Given the description of an element on the screen output the (x, y) to click on. 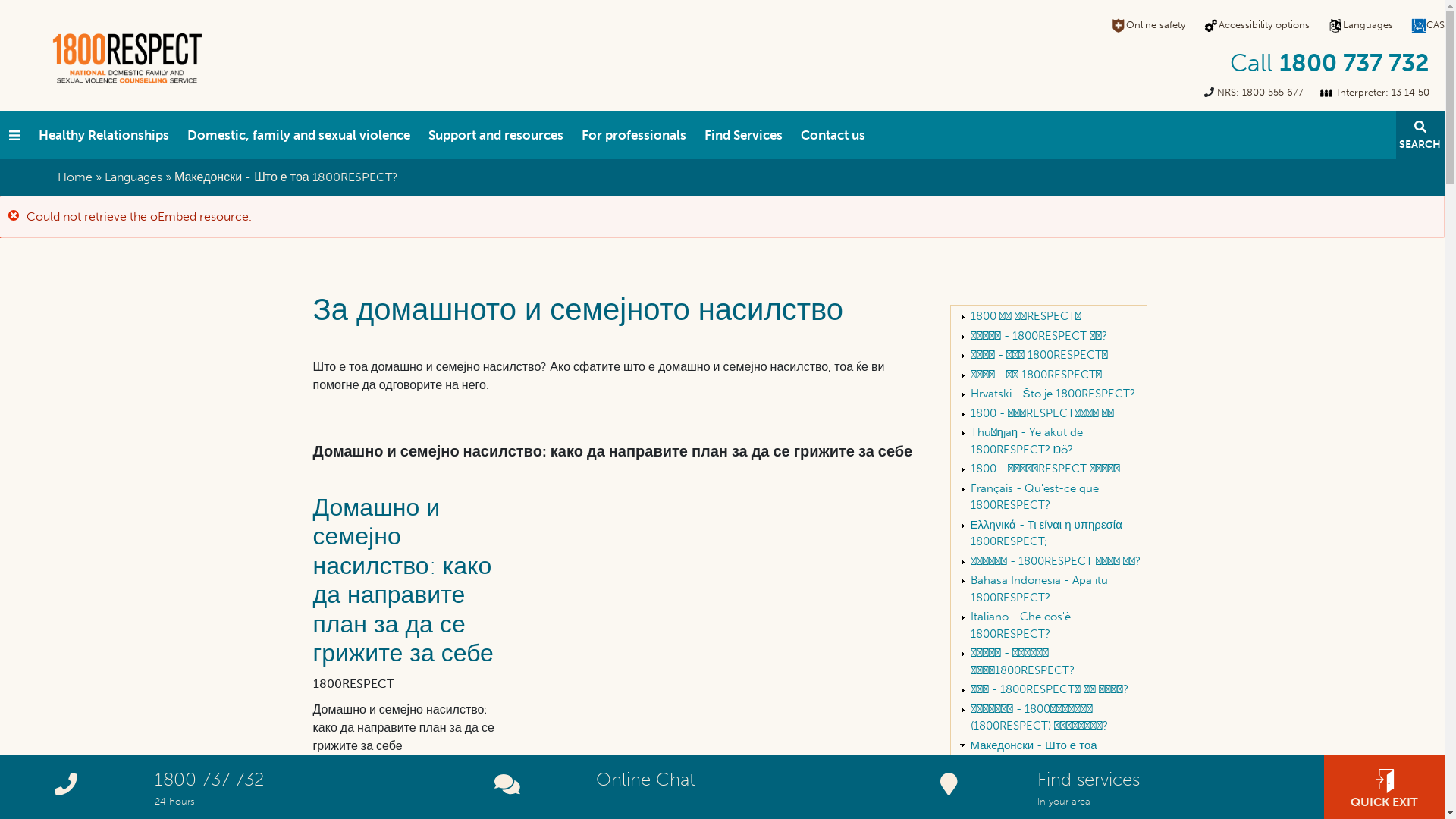
Languages Element type: text (1368, 24)
Home Element type: text (74, 176)
Skip to main content Element type: text (0, 0)
1800 737 732 Element type: text (1354, 62)
SEARCH Element type: text (1420, 135)
Domestic, family and sexual violence Element type: text (298, 134)
Accessibility options Element type: text (1263, 24)
Online safety Element type: text (1155, 24)
1800RESPECT Home Page Element type: hover (14, 134)
Find Services Element type: text (743, 134)
Healthy Relationships Element type: text (103, 134)
NRS: 1800 555 677 Element type: text (1260, 91)
Contact us Element type: text (832, 134)
Bahasa Indonesia - Apa itu 1800RESPECT? Element type: text (1038, 588)
Support and resources Element type: text (495, 134)
Languages Element type: text (133, 176)
CAS Element type: text (1427, 24)
For professionals Element type: text (633, 134)
Interpreter: 13 14 50 Element type: text (1382, 91)
